Given the description of an element on the screen output the (x, y) to click on. 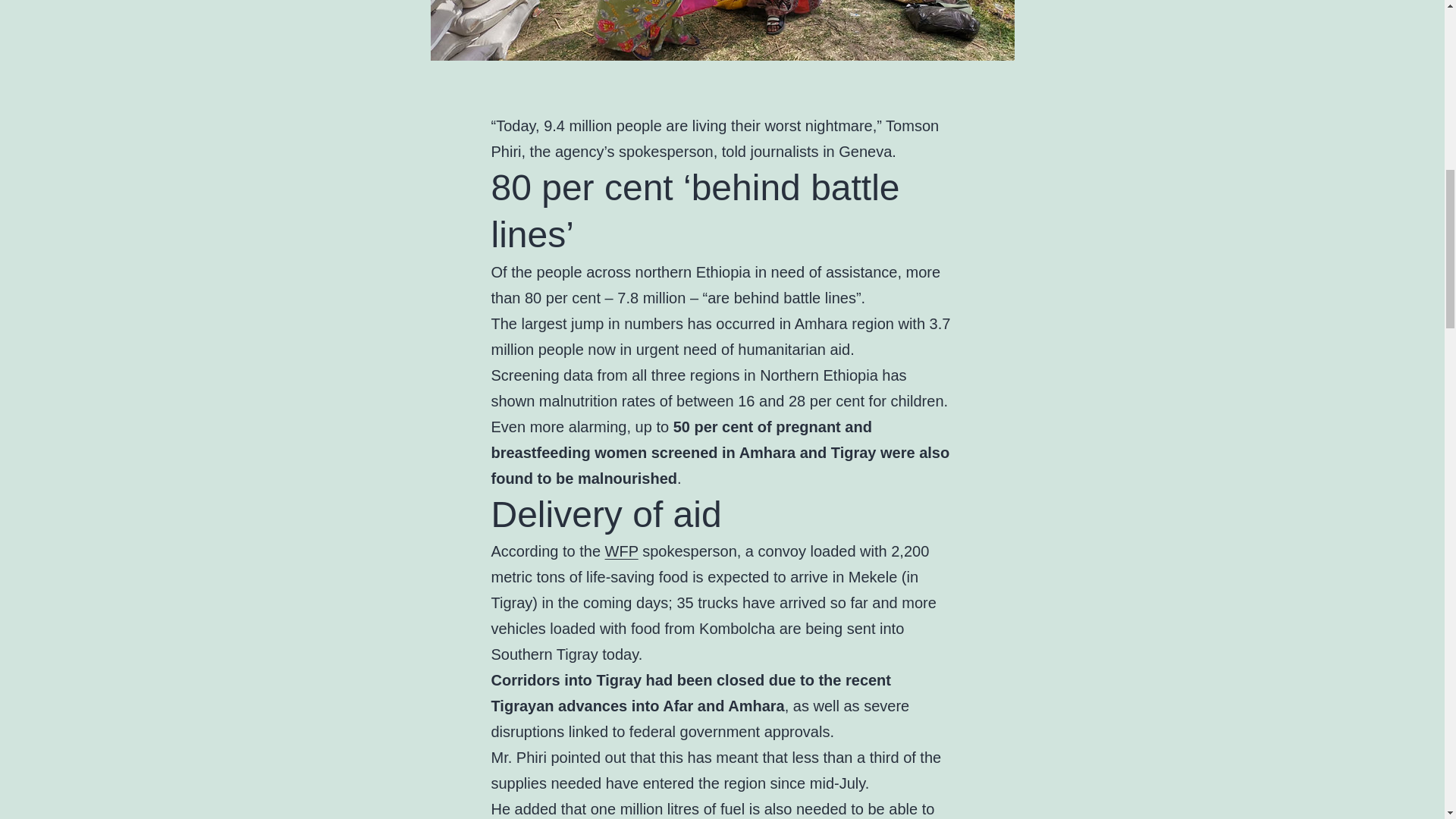
World Food Programme (622, 550)
WFP (622, 550)
